Given the description of an element on the screen output the (x, y) to click on. 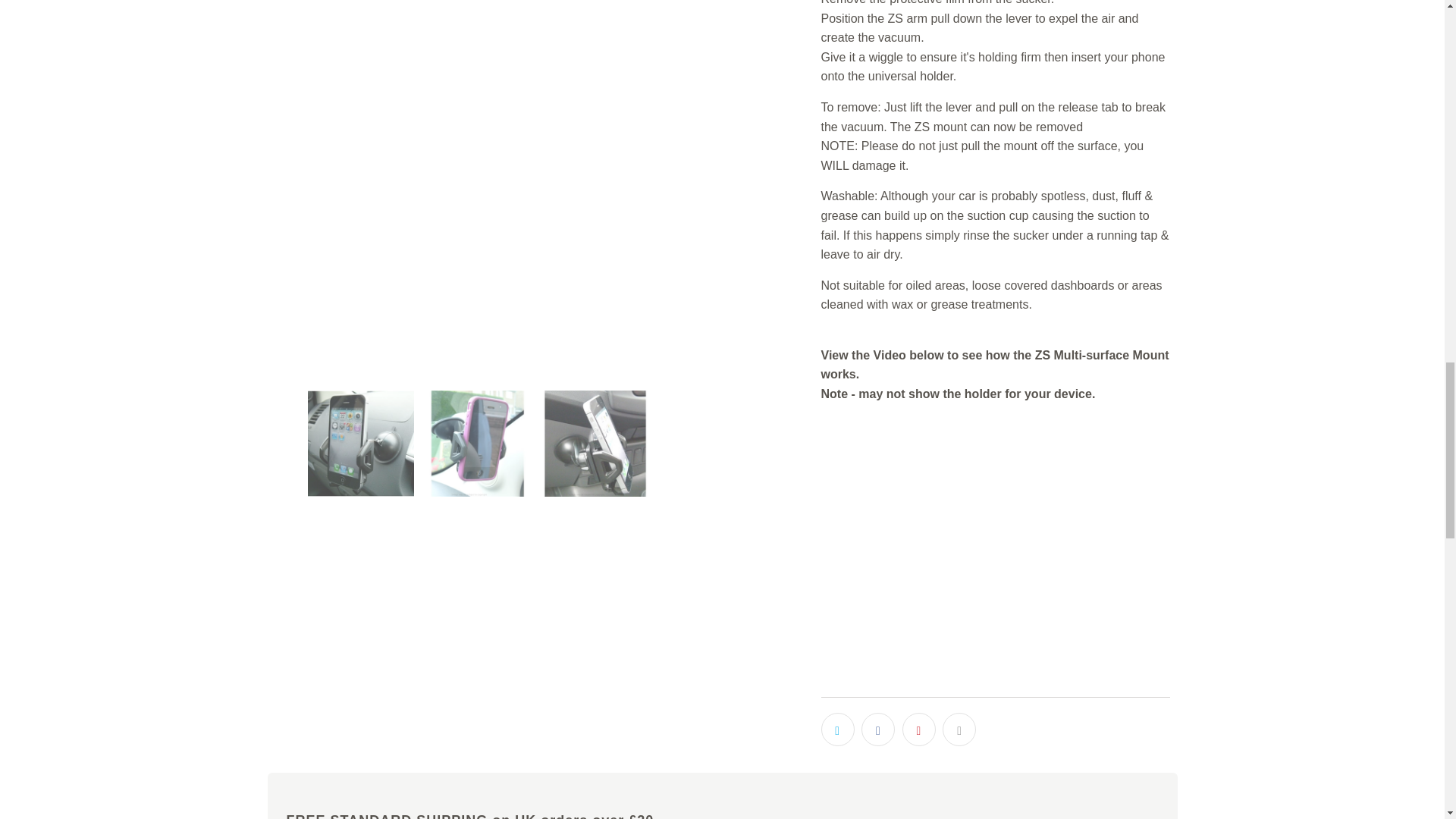
Email this to a friend (958, 729)
Share this on Twitter (837, 729)
Share this on Facebook (878, 729)
Share this on Pinterest (919, 729)
